Given the description of an element on the screen output the (x, y) to click on. 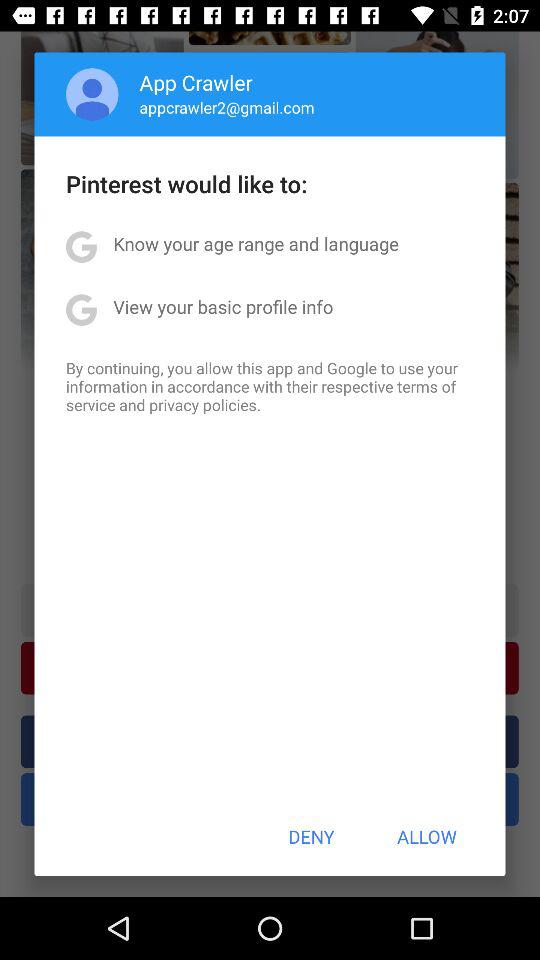
turn off the app below the know your age item (223, 306)
